Given the description of an element on the screen output the (x, y) to click on. 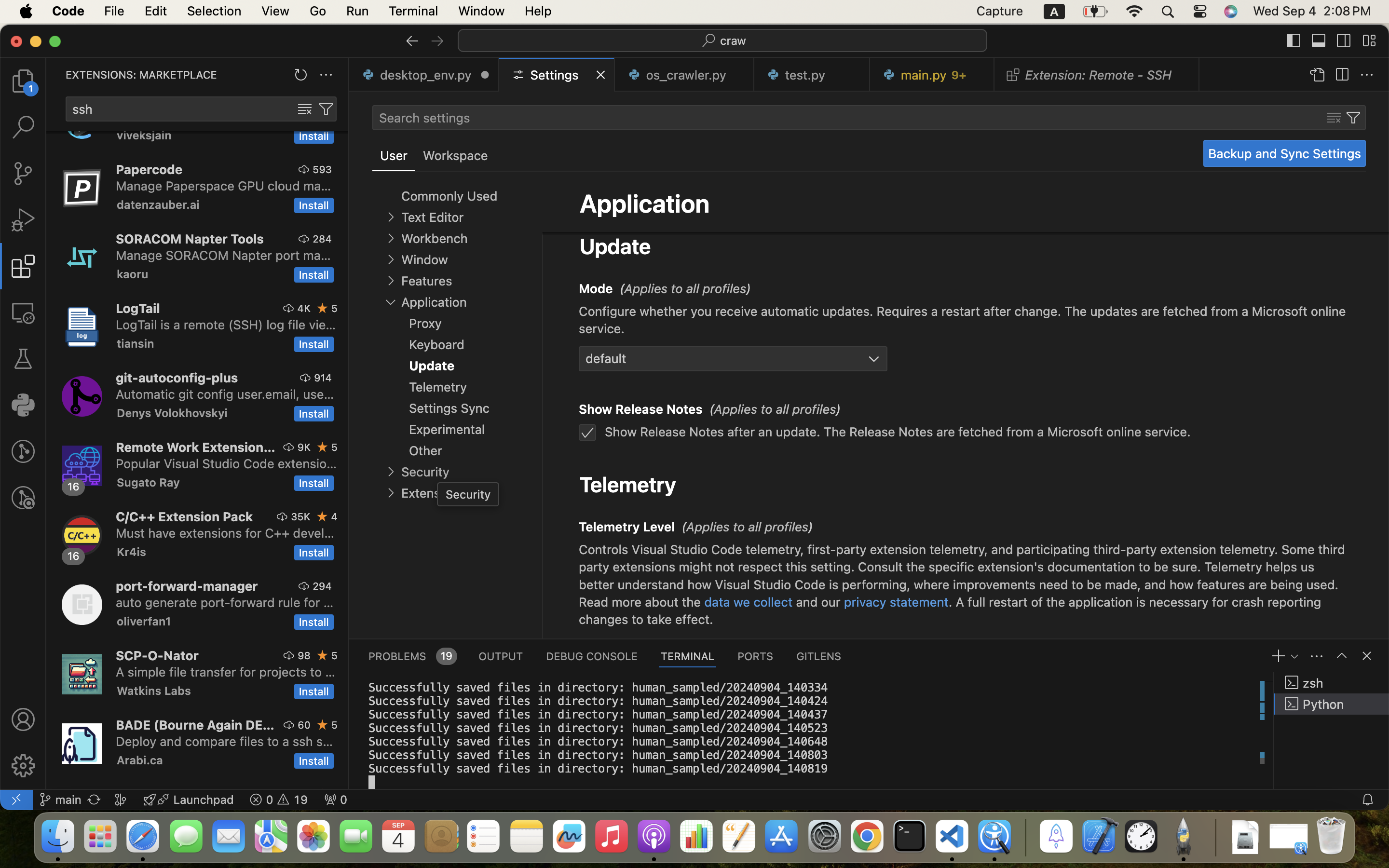
1 Element type: AXRadioButton (393, 155)
 Element type: AXButton (1316, 74)
main  Element type: AXButton (59, 799)
 Element type: AXButton (437, 40)
and our Element type: AXStaticText (818, 601)
